Given the description of an element on the screen output the (x, y) to click on. 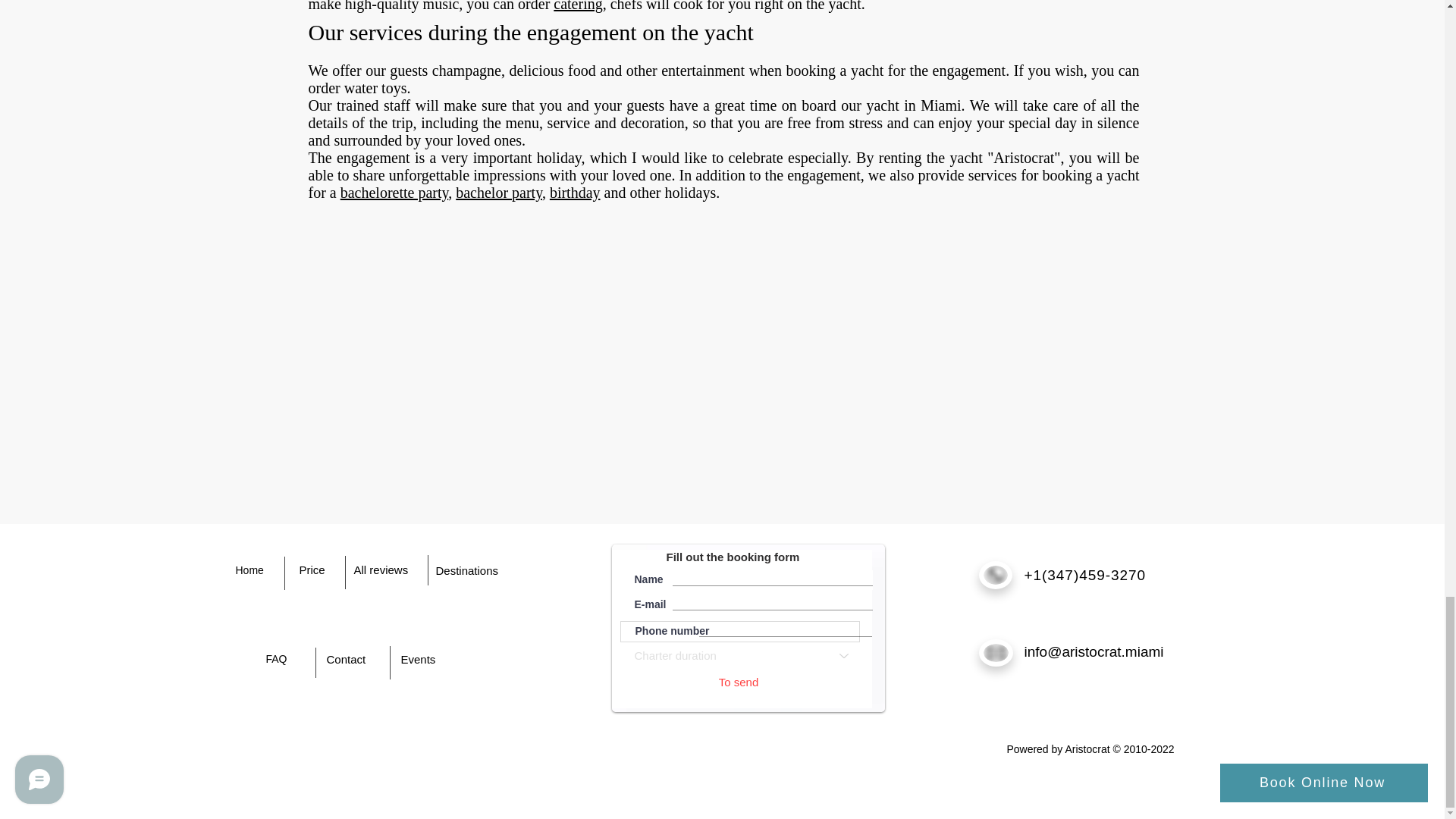
Destinations (466, 570)
bachelorette party (394, 192)
All reviews (380, 569)
catering (577, 6)
Price (311, 569)
Contact (345, 658)
Events (417, 658)
bachelor party (498, 192)
FAQ (275, 658)
Home (248, 570)
birthday (574, 192)
